Given the description of an element on the screen output the (x, y) to click on. 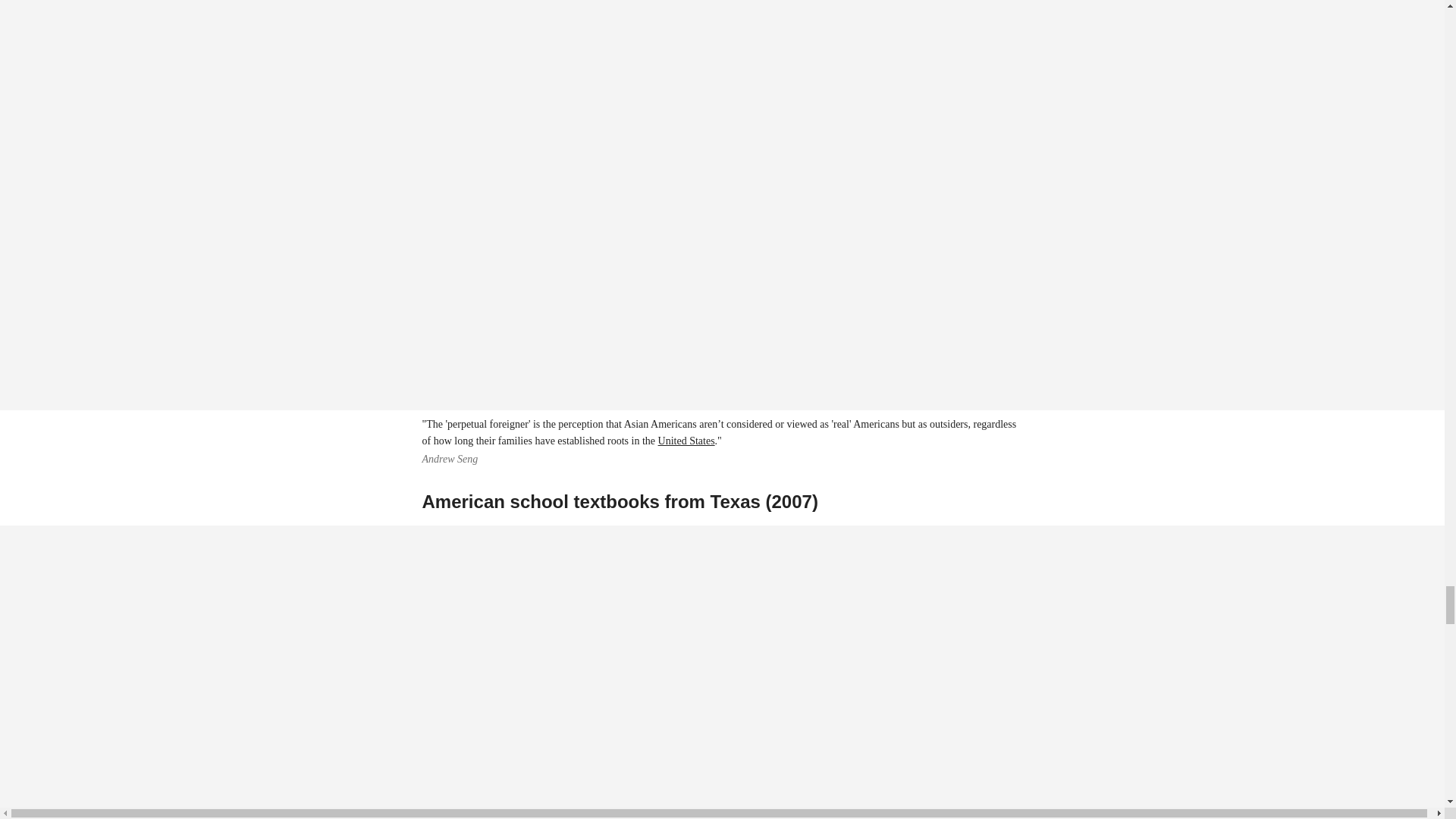
United States (686, 440)
